Given the description of an element on the screen output the (x, y) to click on. 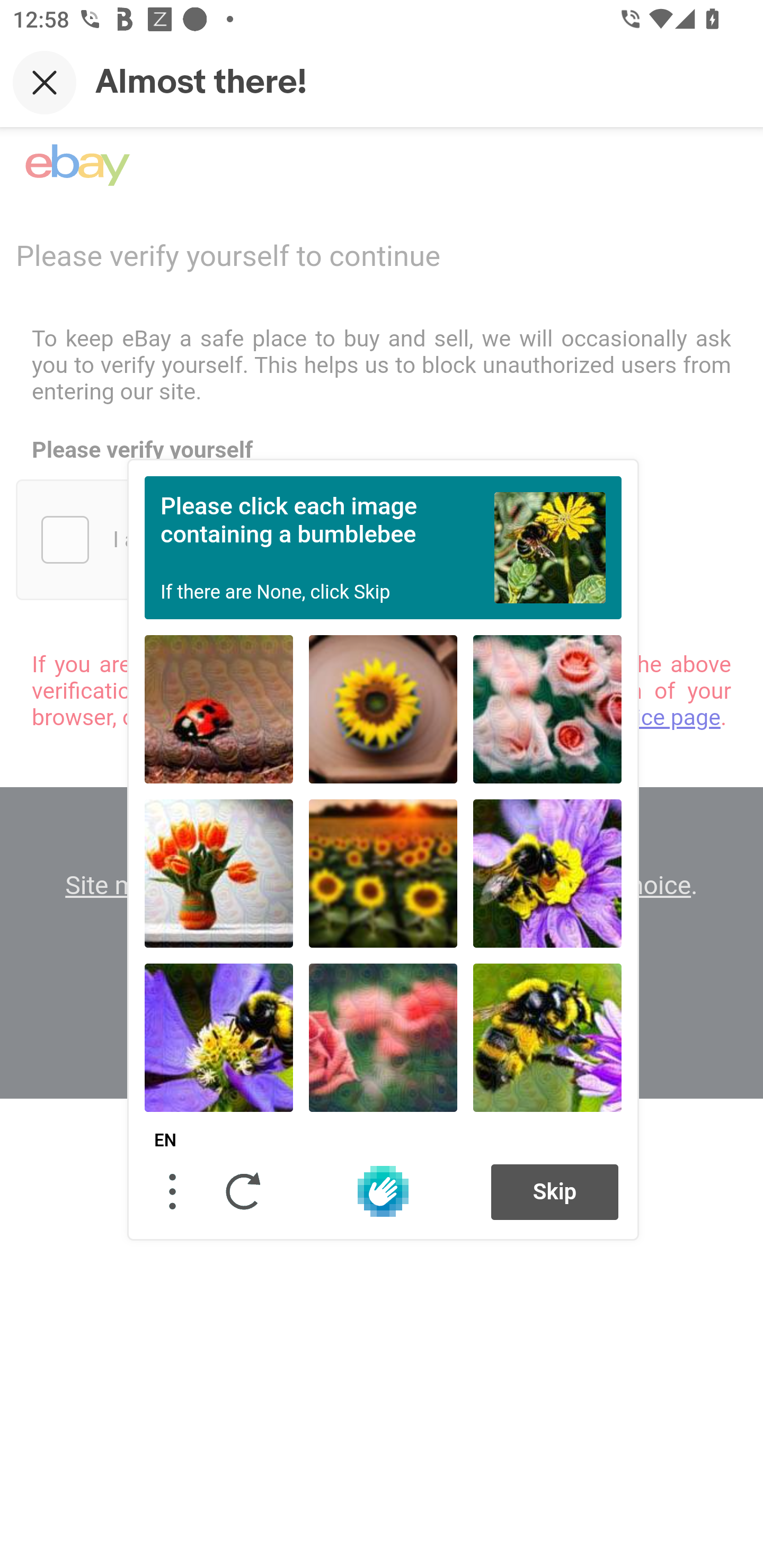
Close (44, 82)
Example image 1 (549, 546)
Challenge Image 1 (218, 708)
Challenge Image 2 (382, 708)
Challenge Image 3 (546, 708)
Challenge Image 4 (218, 873)
Challenge Image 5 (382, 873)
Challenge Image 6 (546, 873)
Challenge Image 7 (218, 1036)
Challenge Image 8 (382, 1036)
Challenge Image 9 (546, 1036)
English (165, 1140)
Skip Challenge (554, 1191)
Refresh Challenge. (243, 1190)
hCaptcha (382, 1190)
